Given the description of an element on the screen output the (x, y) to click on. 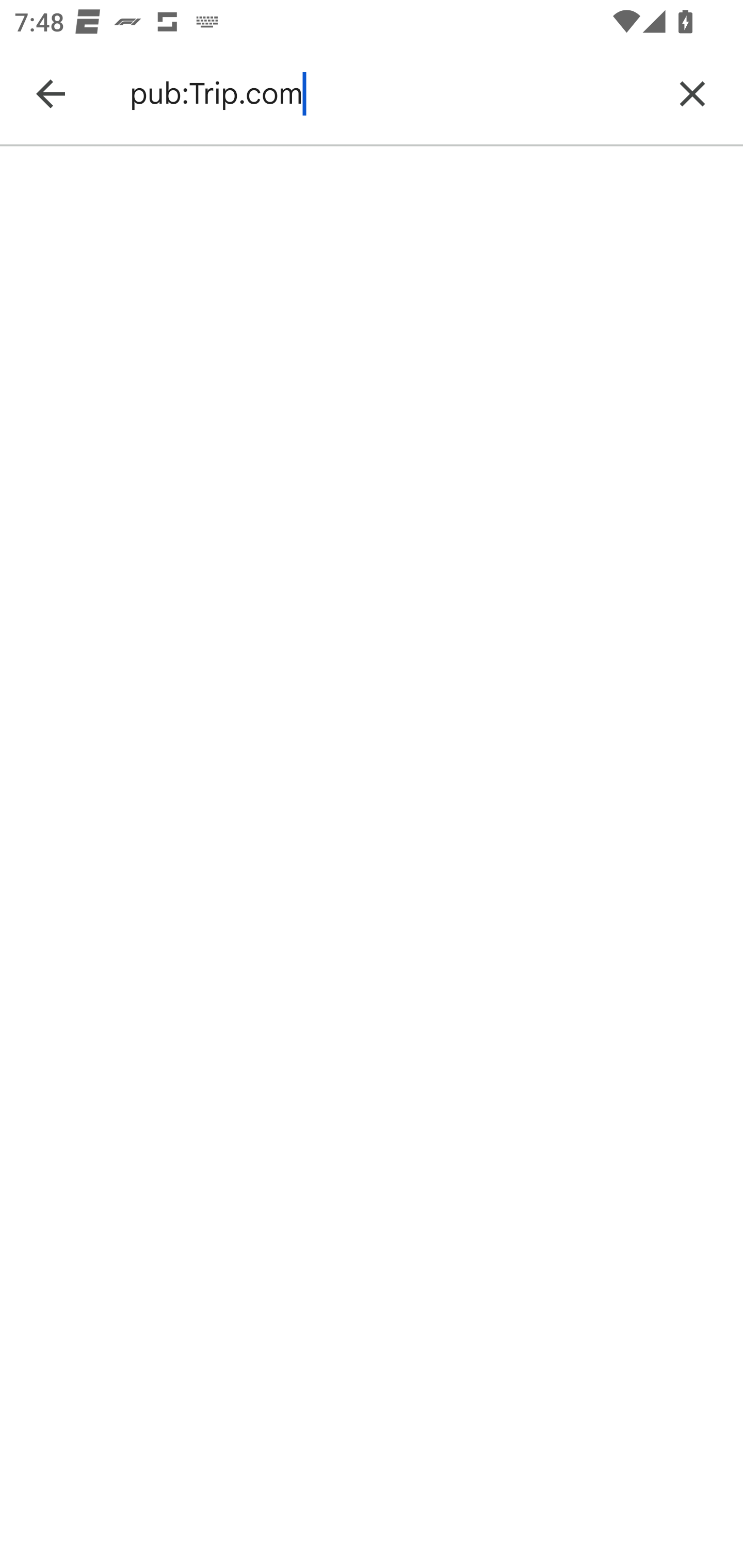
Navigate up (50, 93)
pub:Trip.com (389, 93)
Clear (692, 93)
